Given the description of an element on the screen output the (x, y) to click on. 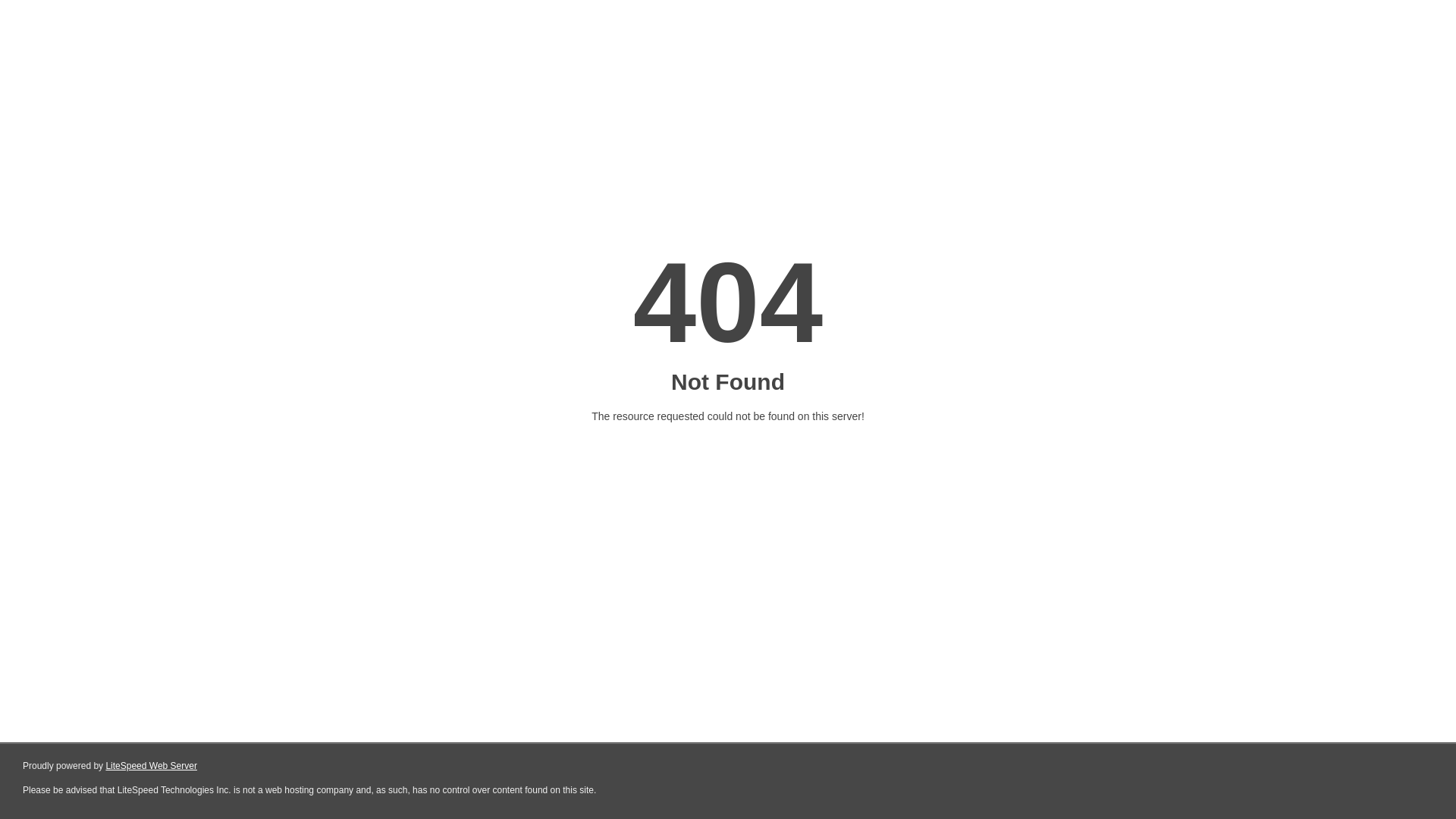
LiteSpeed Web Server Element type: text (151, 765)
